Given the description of an element on the screen output the (x, y) to click on. 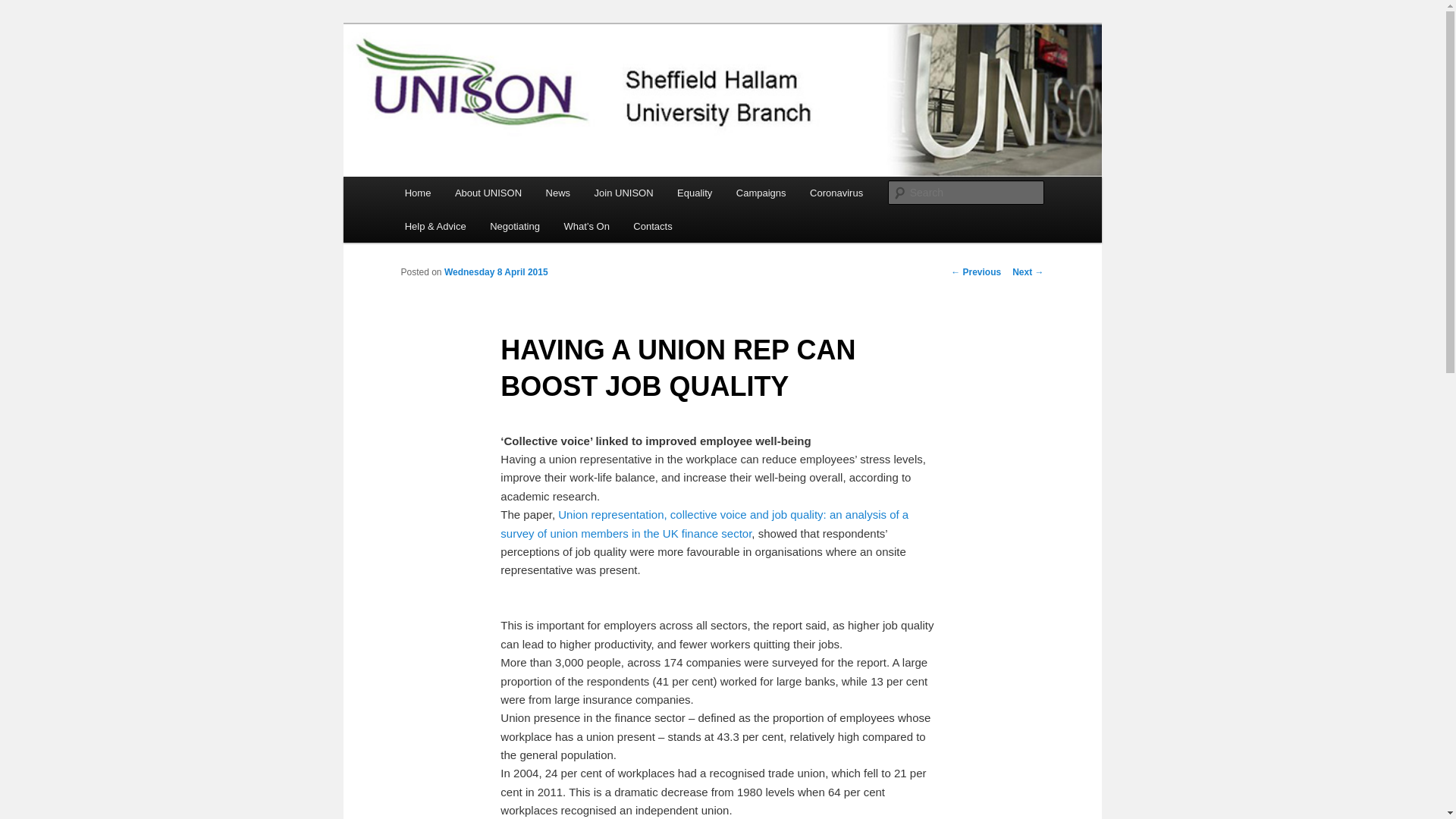
Negotiating (514, 225)
UNISON (444, 78)
Join UNISON (623, 192)
Equality (694, 192)
News (558, 192)
Home (417, 192)
Contacts (652, 225)
Coronavirus (836, 192)
Campaigns (760, 192)
Search (24, 8)
About UNISON (488, 192)
Wednesday 8 April 2015 (496, 271)
